Given the description of an element on the screen output the (x, y) to click on. 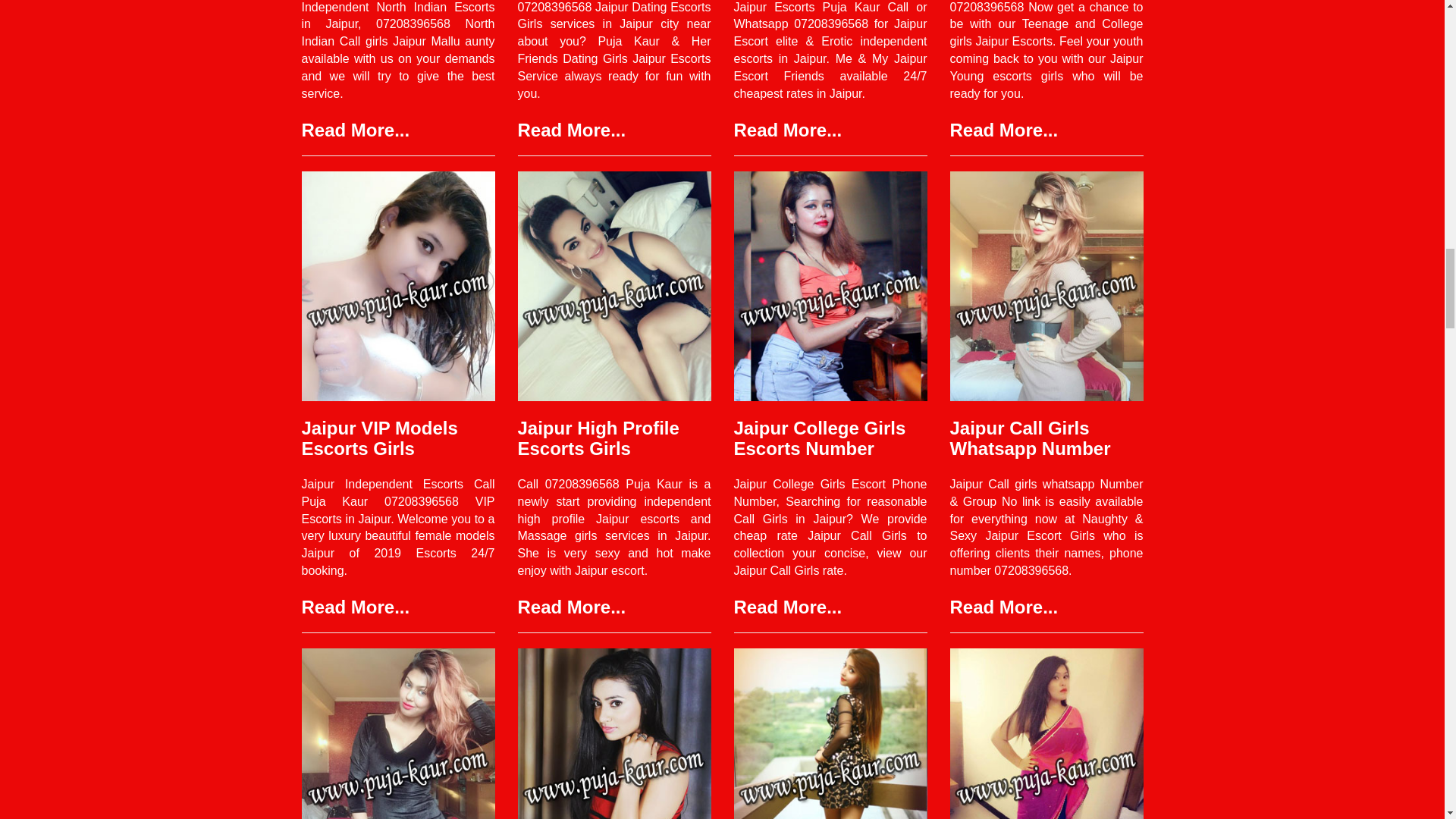
Read More... (1003, 129)
Read More... (788, 129)
Read More... (571, 129)
Read More... (355, 129)
Read More... (355, 607)
